Given the description of an element on the screen output the (x, y) to click on. 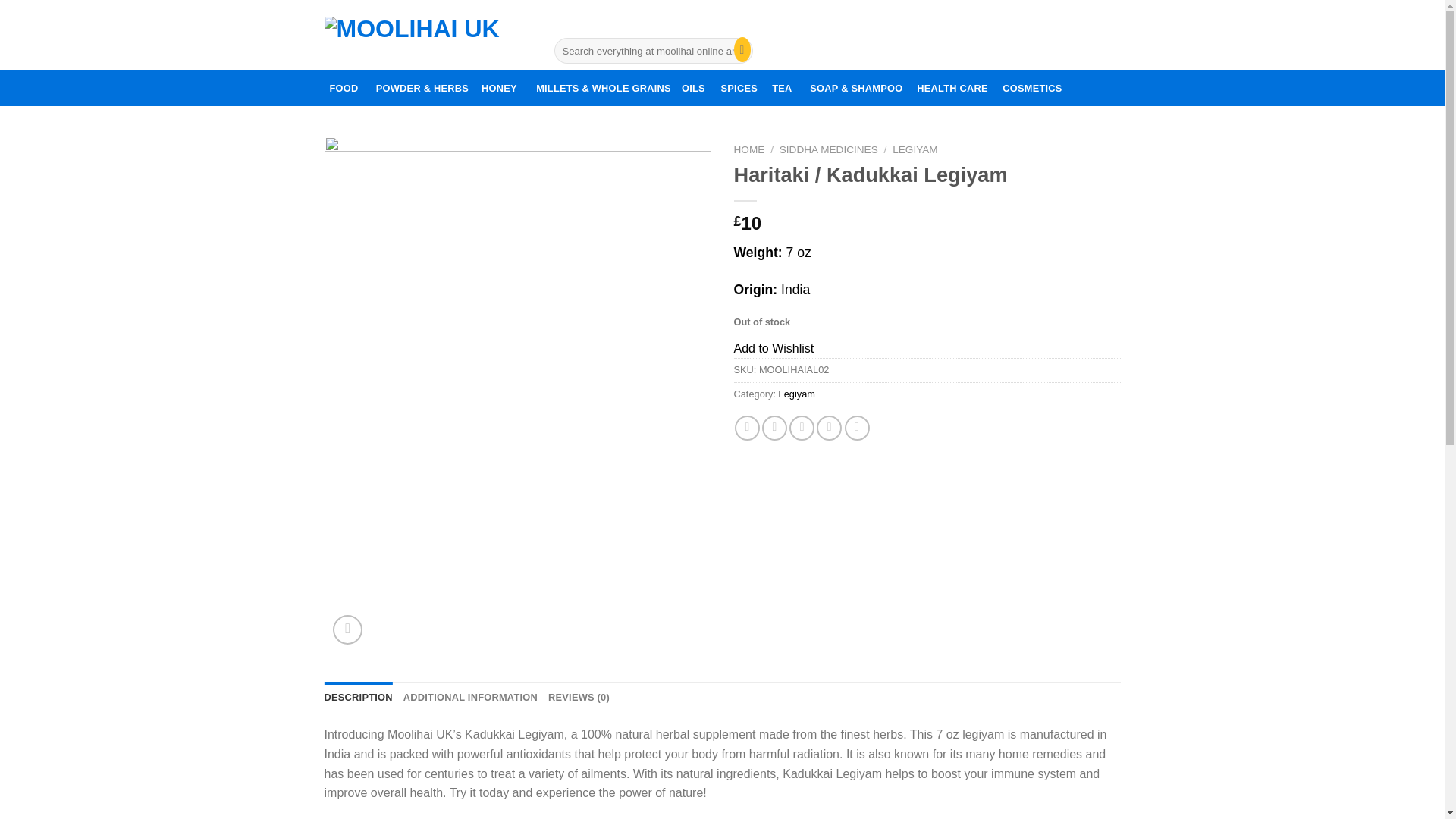
Add to Wishlist (773, 348)
Email to a Friend (801, 427)
Share on LinkedIn (856, 427)
SIDDHA MEDICINES (827, 149)
Share on Twitter (774, 427)
Legiyam (796, 393)
Moolihai UK - UK's Largest Herbal Store (425, 33)
OILS (693, 87)
HONEY (499, 87)
HEALTH CARE (952, 87)
